Given the description of an element on the screen output the (x, y) to click on. 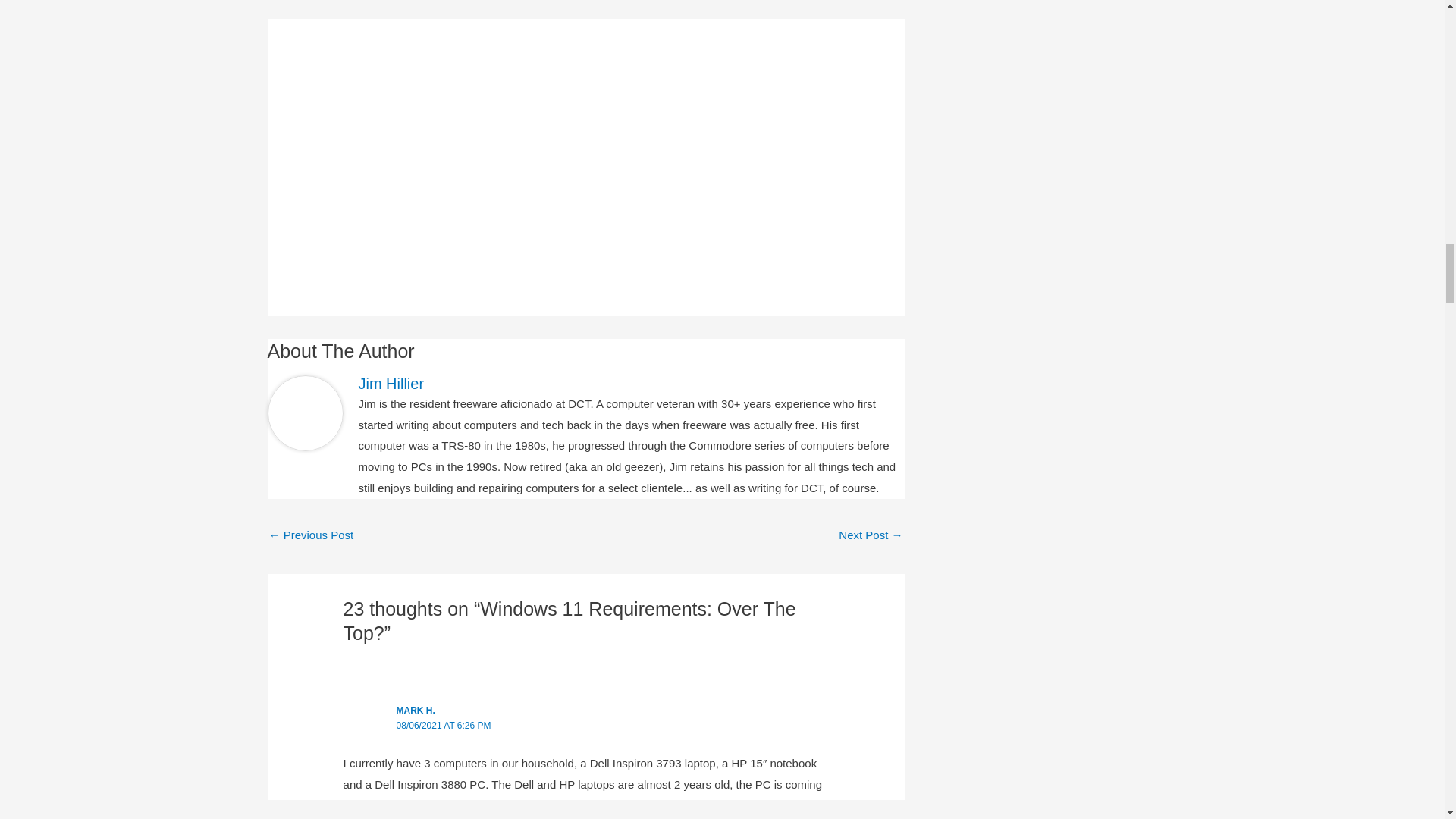
How To Boost Facebook Page Posts (870, 536)
How To Reset Your WordPress Website (310, 536)
